Given the description of an element on the screen output the (x, y) to click on. 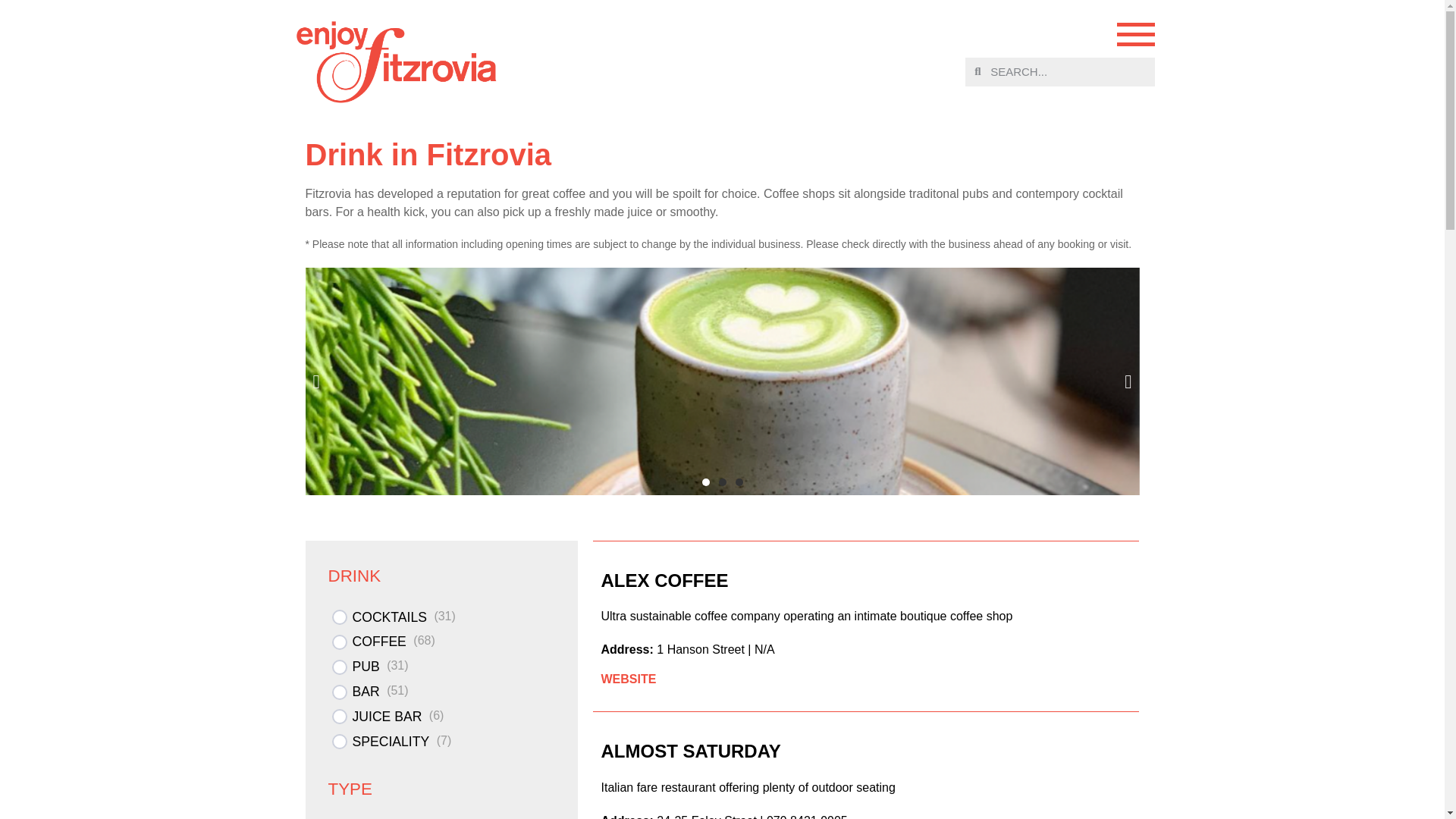
24-25 Foley Street (706, 816)
JUICE BAR (387, 722)
1 Hanson Street (700, 649)
on (339, 667)
WEBSITE (627, 678)
on (339, 616)
on (339, 741)
PUB (365, 673)
on (339, 716)
079 8421 9905 (807, 816)
